Given the description of an element on the screen output the (x, y) to click on. 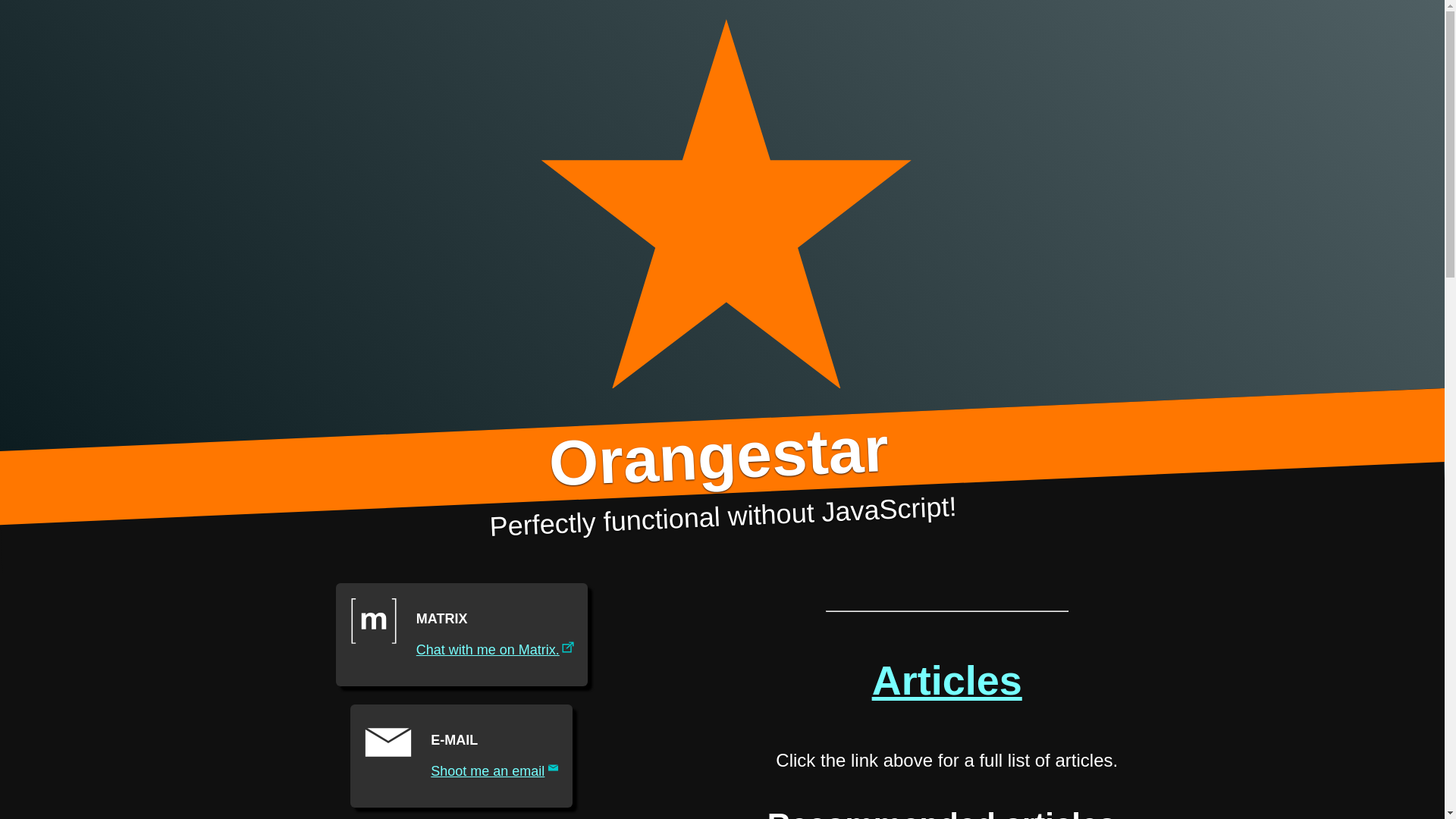
Articles (460, 755)
